Given the description of an element on the screen output the (x, y) to click on. 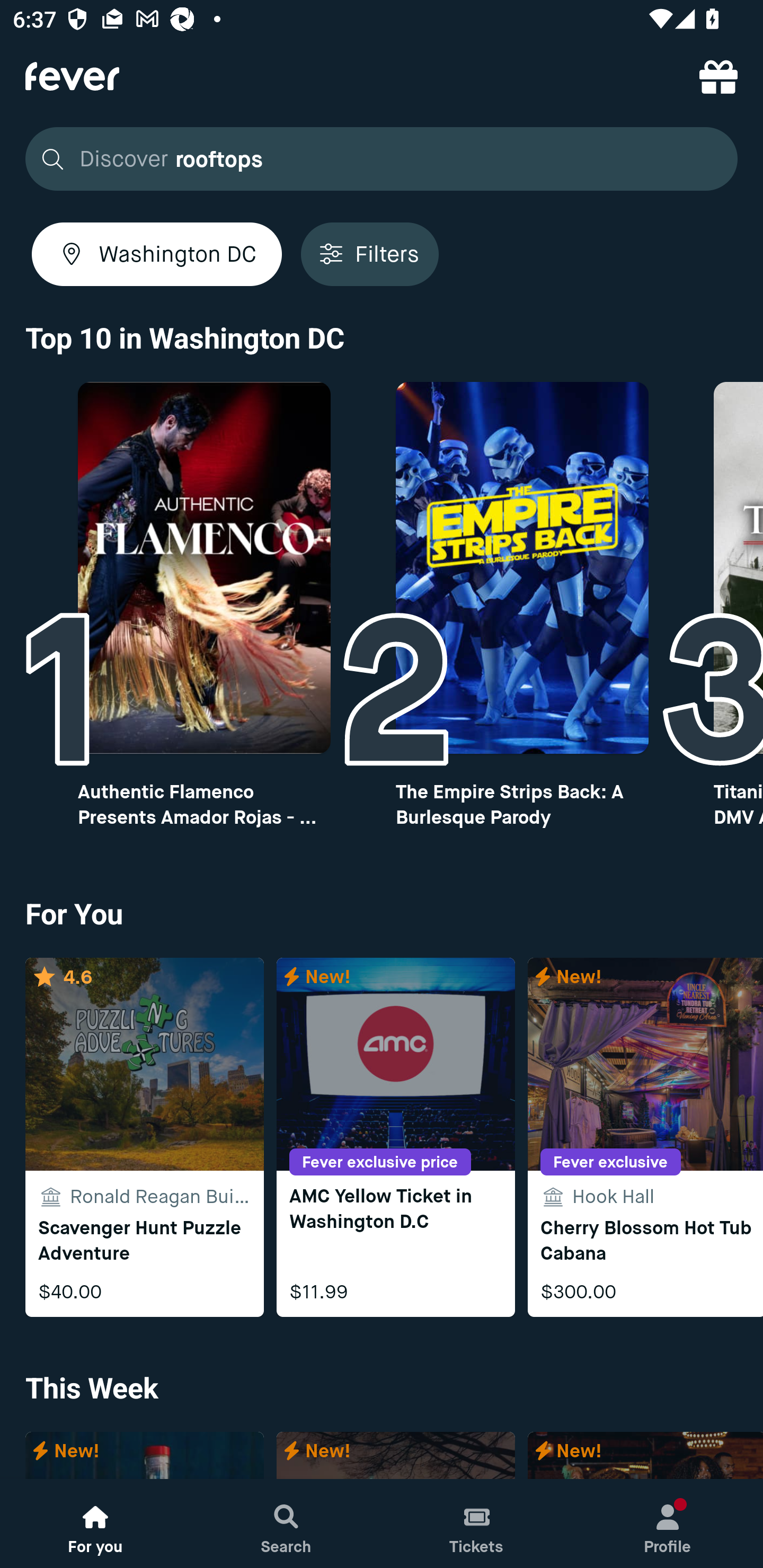
referral (718, 75)
Discover rooftops (381, 158)
Discover rooftops (376, 158)
Washington DC (156, 253)
Filters (369, 253)
Top10 image (203, 568)
Top10 image (521, 568)
Search (285, 1523)
Tickets (476, 1523)
Profile, New notification Profile (667, 1523)
